Given the description of an element on the screen output the (x, y) to click on. 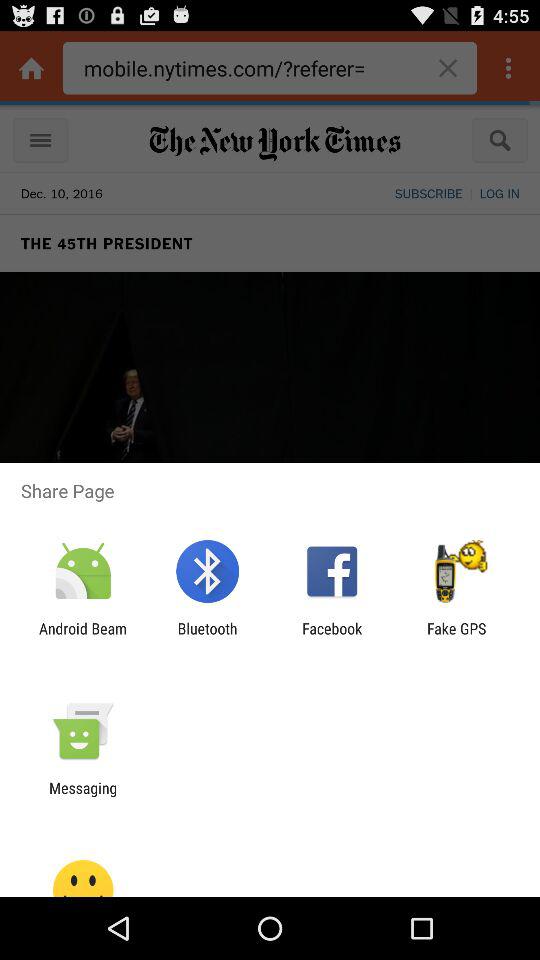
click the app next to facebook (456, 637)
